Given the description of an element on the screen output the (x, y) to click on. 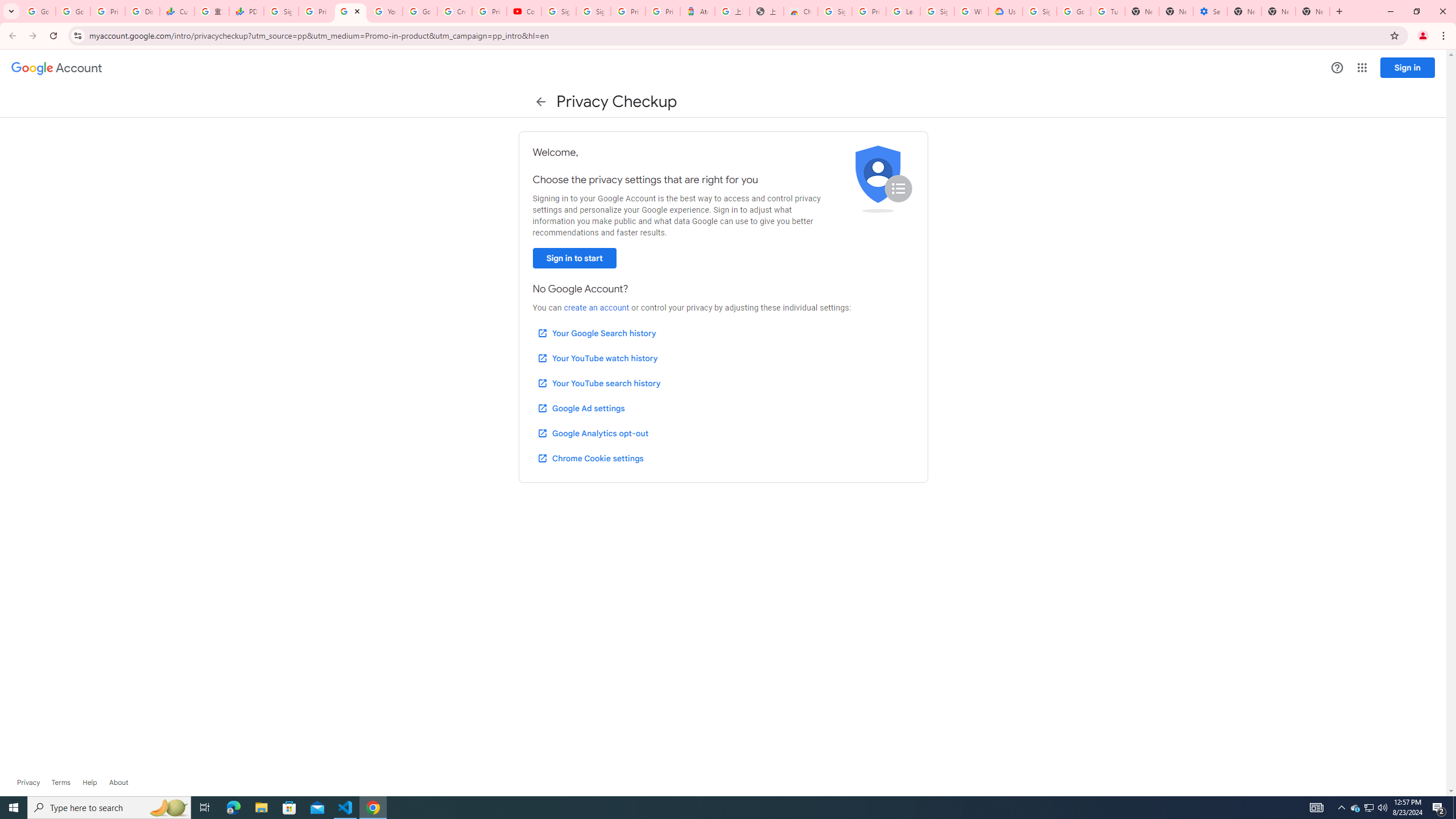
Sign in to start (573, 258)
Sign in - Google Accounts (1039, 11)
Chrome Web Store (800, 11)
Sign in (1407, 67)
Google Workspace Admin Community (38, 11)
Atour Hotel - Google hotels (697, 11)
New Tab (1243, 11)
